Given the description of an element on the screen output the (x, y) to click on. 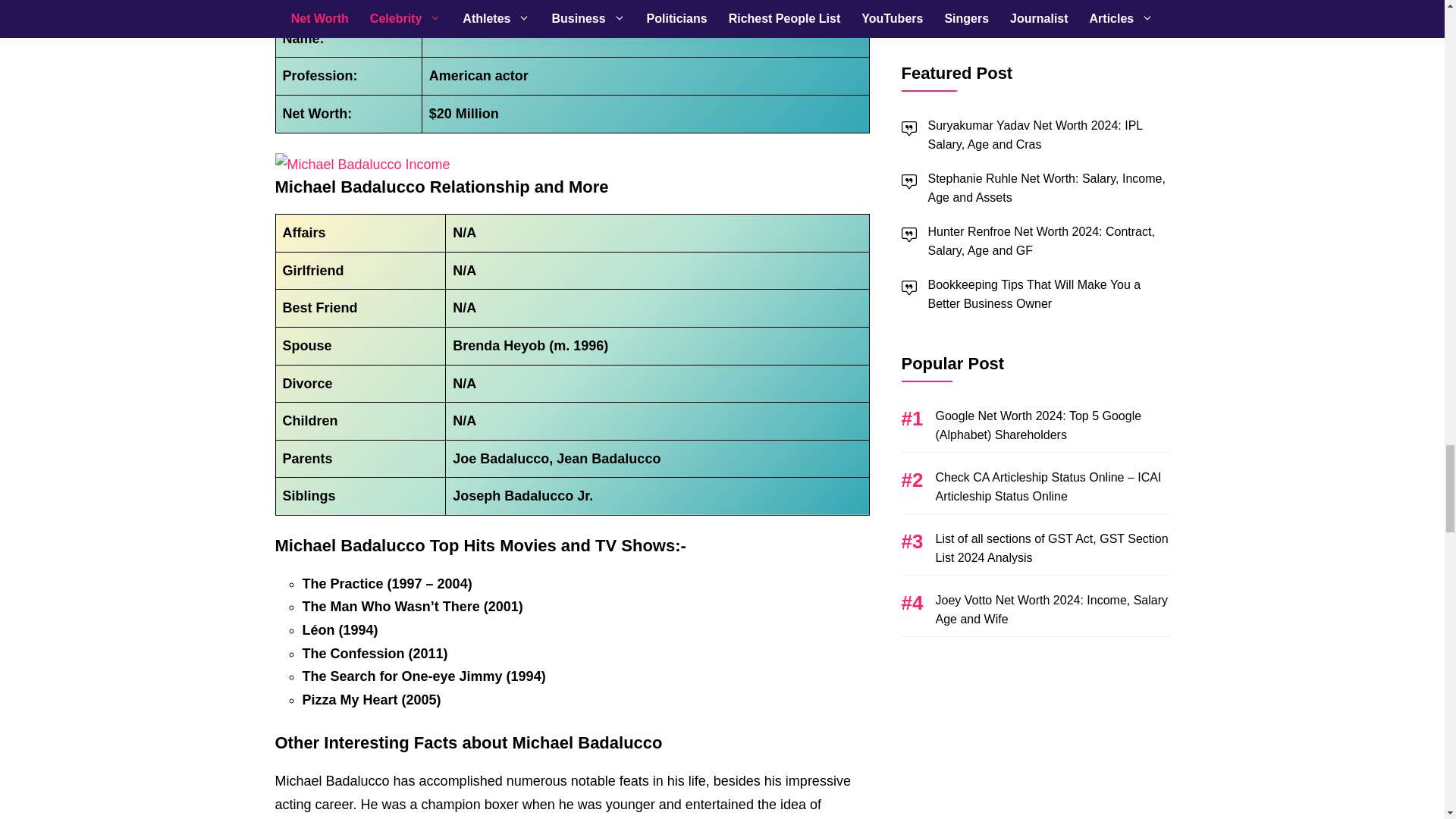
Michael Badalucco Net Worth 2024: Movies, Income, Age and Gf (362, 164)
